Given the description of an element on the screen output the (x, y) to click on. 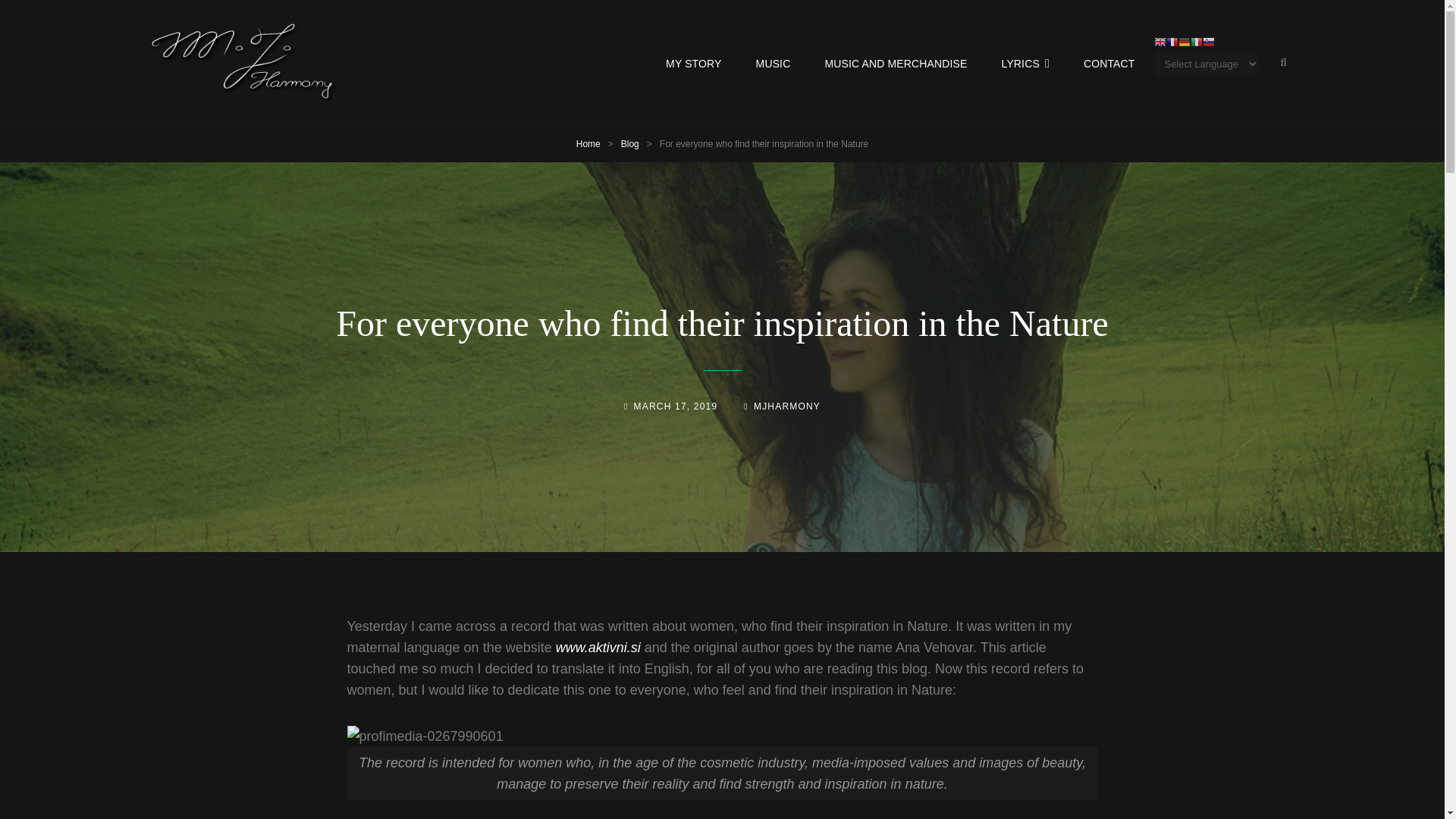
MY STORY (693, 63)
M.J.HARMONY (437, 75)
Italiano (1196, 41)
LYRICS (1024, 63)
Deutsch (1184, 41)
MUSIC (773, 63)
CONTACT (1109, 63)
English (1160, 41)
MUSIC AND MERCHANDISE (895, 63)
